Given the description of an element on the screen output the (x, y) to click on. 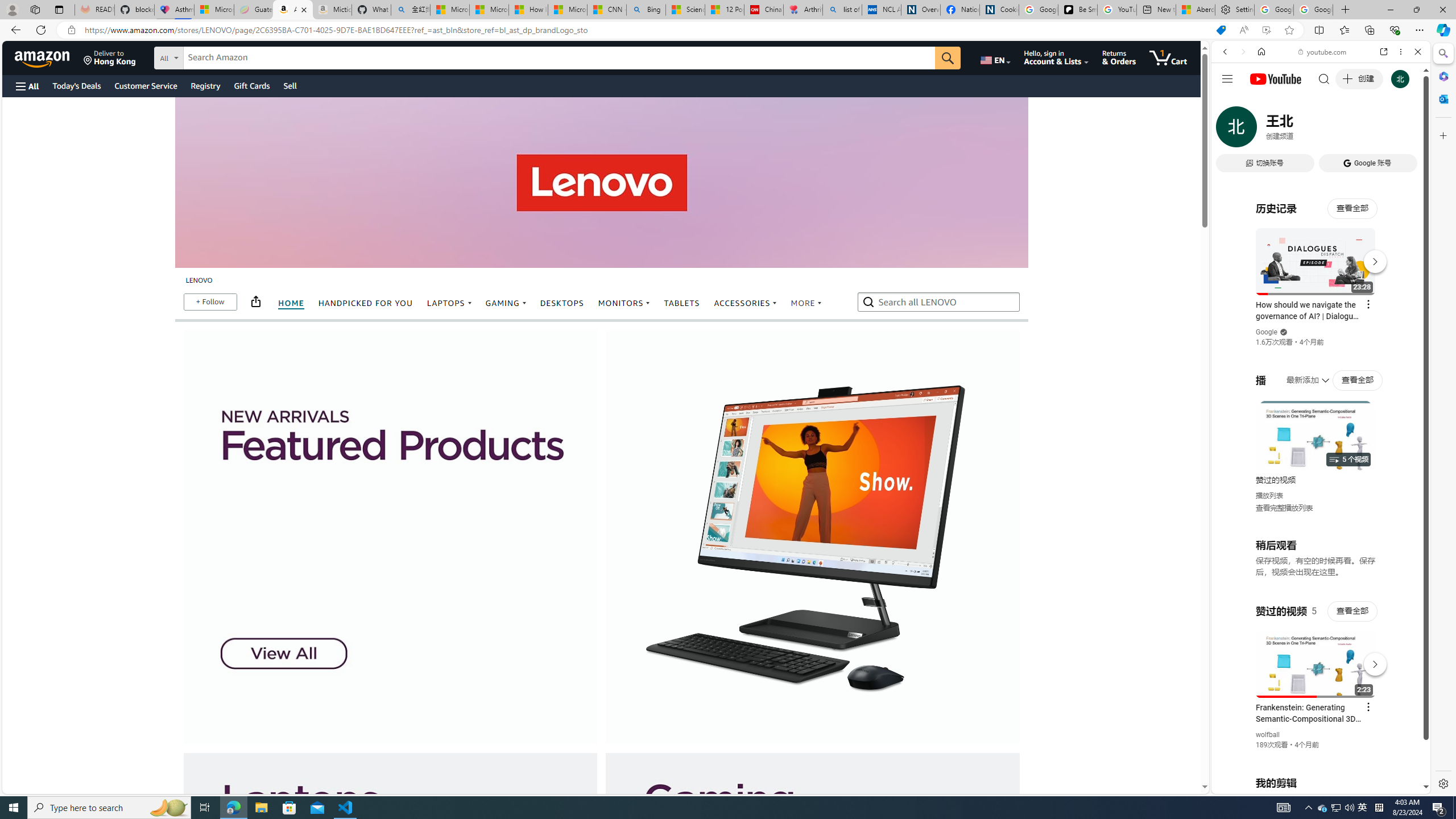
Class: dict_pnIcon rms_img (1312, 784)
HANDPICKED FOR YOU (365, 302)
Hello, sign in Account & Lists (1056, 57)
1 item in cart (1168, 57)
